Given the description of an element on the screen output the (x, y) to click on. 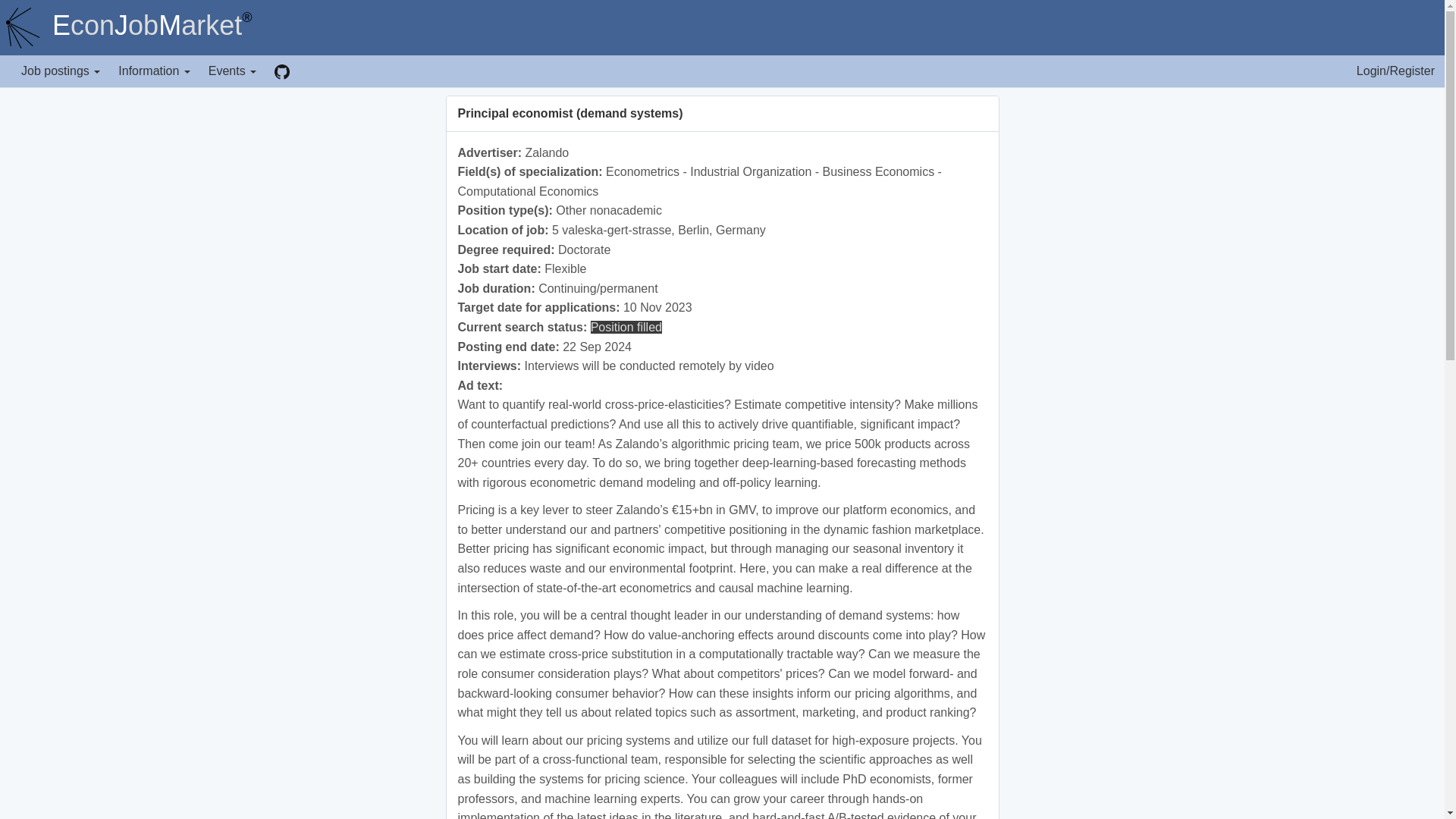
Information (153, 70)
Events (231, 70)
Job postings (60, 70)
